Given the description of an element on the screen output the (x, y) to click on. 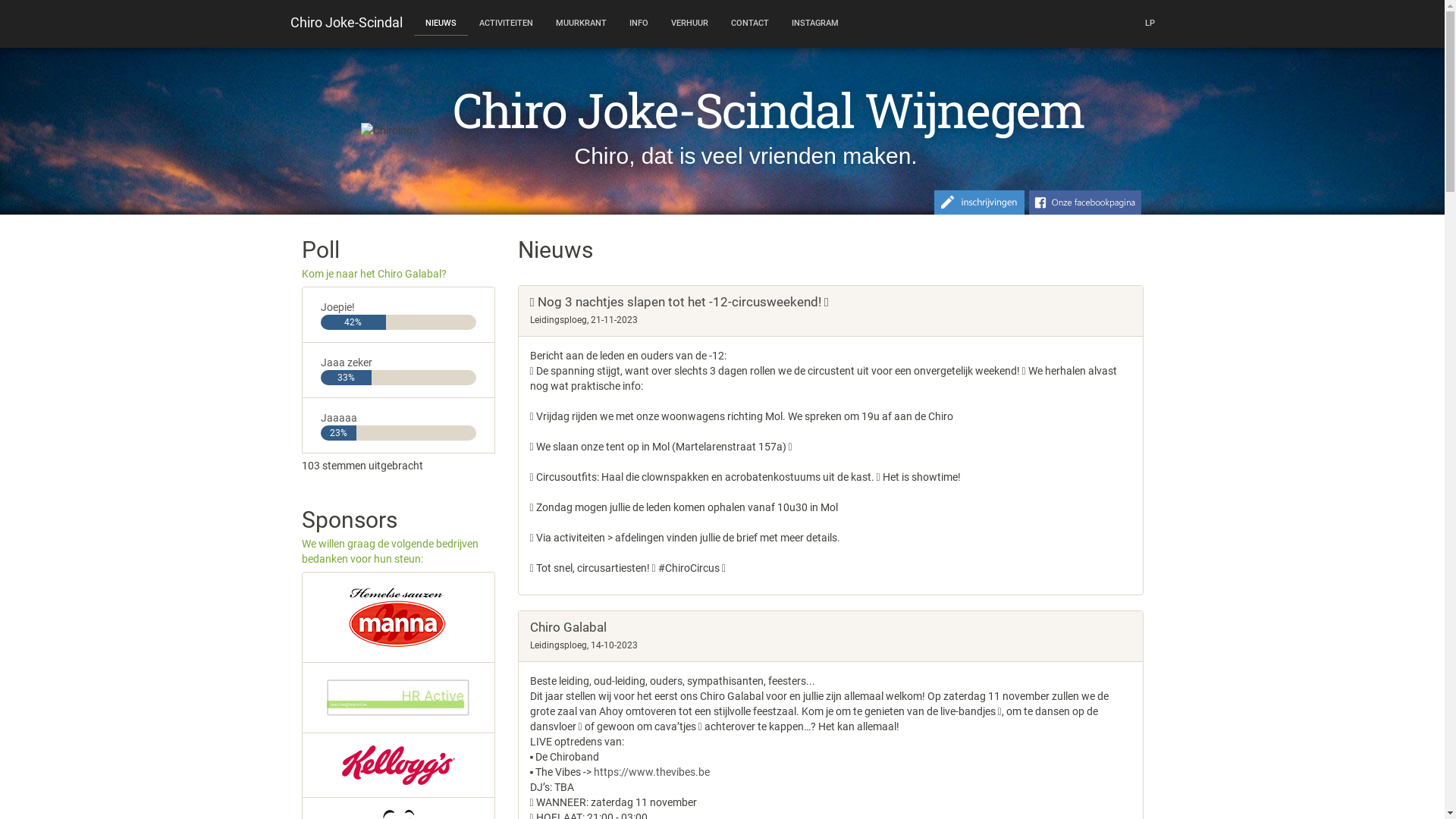
Jaaaaa Element type: text (338, 417)
MUURKRANT Element type: text (581, 23)
CONTACT Element type: text (748, 23)
INSTAGRAM Element type: text (814, 23)
NIEUWS Element type: text (440, 17)
https://www.thevibes.be Element type: text (651, 771)
Jaaa zeker Element type: text (345, 362)
ACTIVITEITEN Element type: text (505, 23)
VERHUUR Element type: text (689, 23)
Chiro Joke-Scindal Element type: text (346, 22)
LP Element type: text (1148, 23)
Joepie! Element type: text (337, 307)
INFO Element type: text (637, 23)
